Given the description of an element on the screen output the (x, y) to click on. 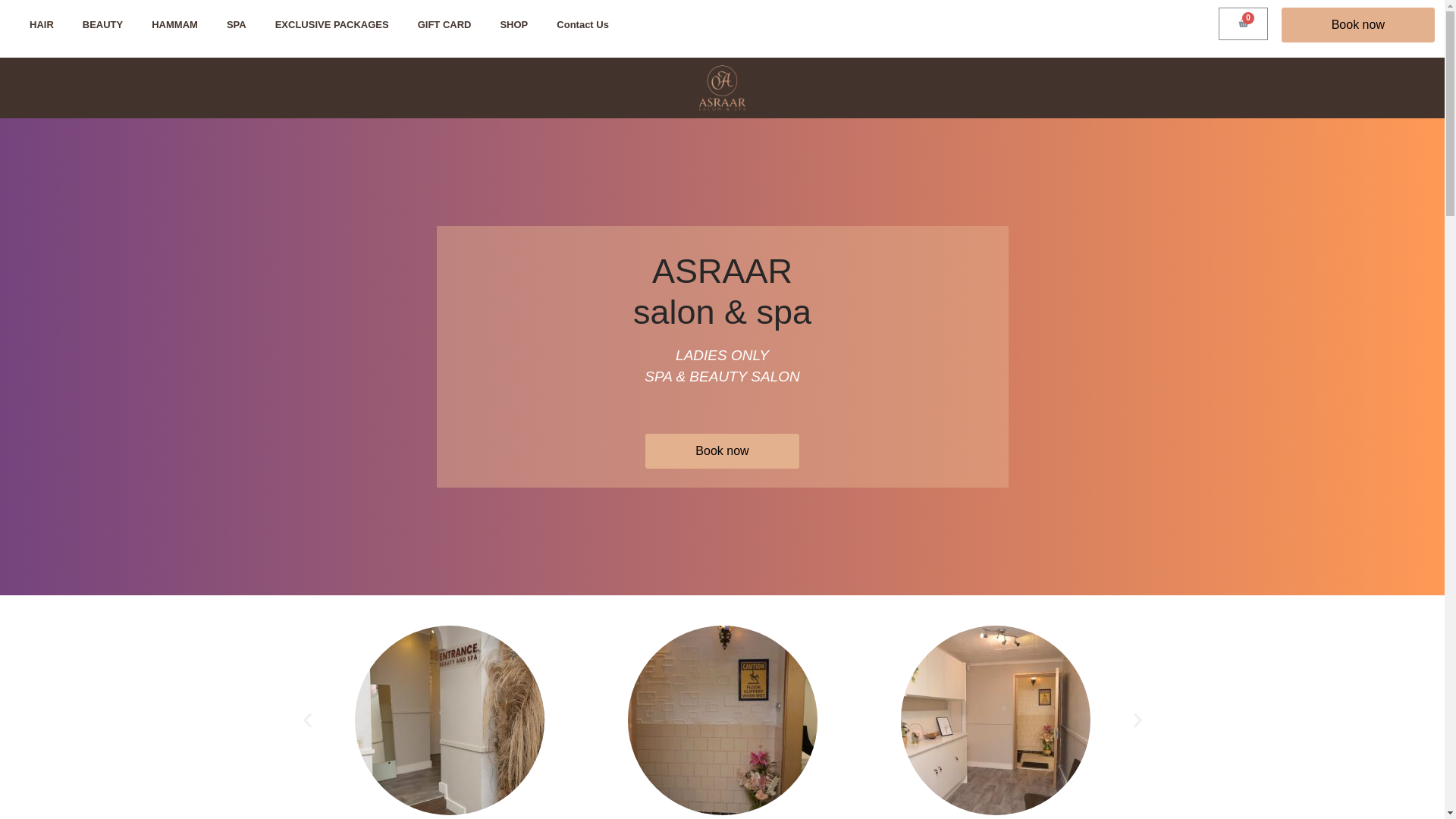
BEAUTY (102, 24)
HAMMAM (174, 24)
EXCLUSIVE PACKAGES (331, 24)
SPA (236, 24)
SHOP (512, 24)
HAIR (41, 24)
GIFT CARD (444, 24)
Contact Us (582, 24)
